Given the description of an element on the screen output the (x, y) to click on. 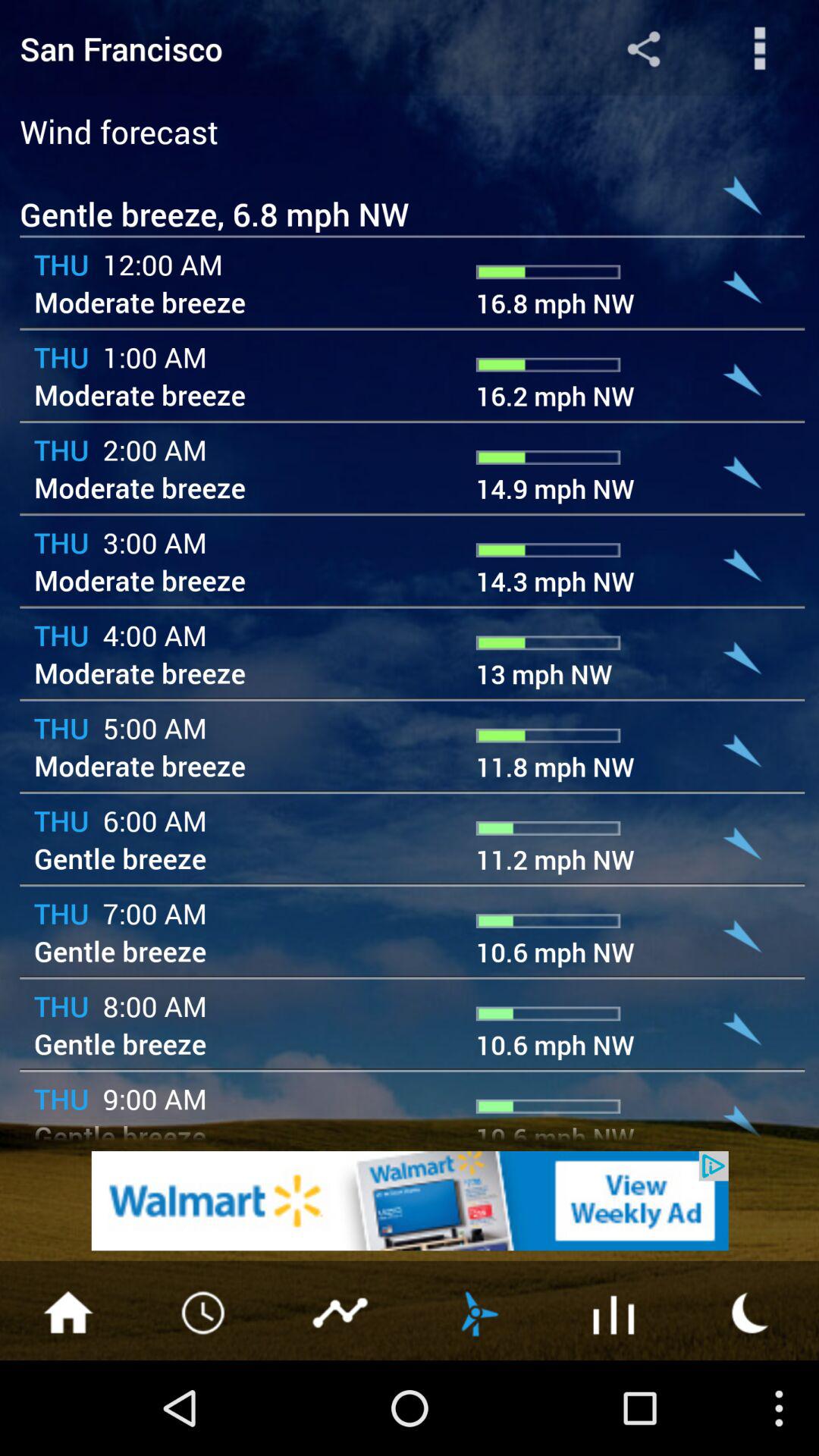
select the add (409, 1200)
